Given the description of an element on the screen output the (x, y) to click on. 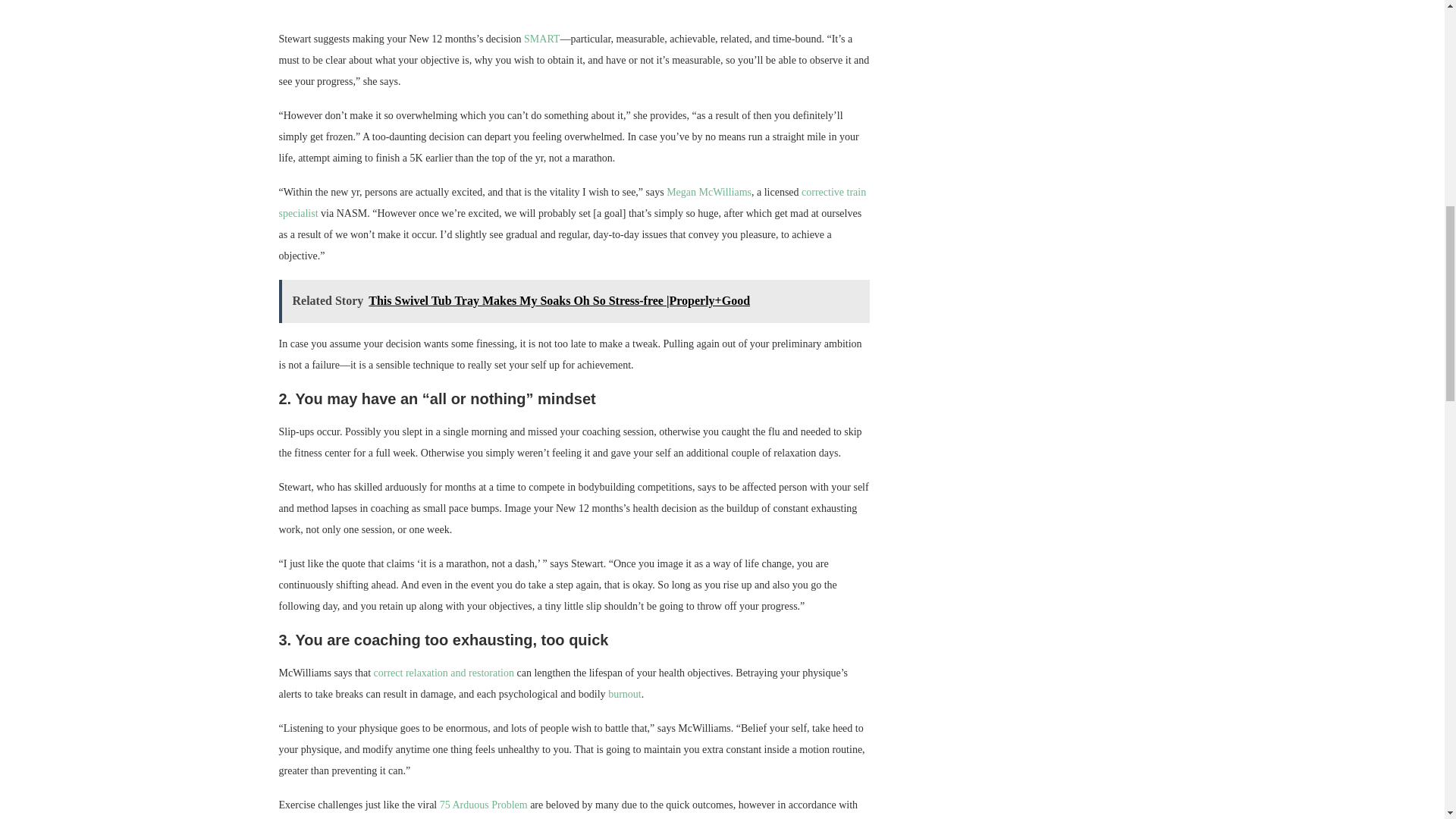
burnout (625, 694)
corrective train specialist (572, 202)
SMART (541, 39)
Megan McWilliams (708, 192)
75 Arduous Problem (483, 804)
correct relaxation and restoration (443, 672)
